Given the description of an element on the screen output the (x, y) to click on. 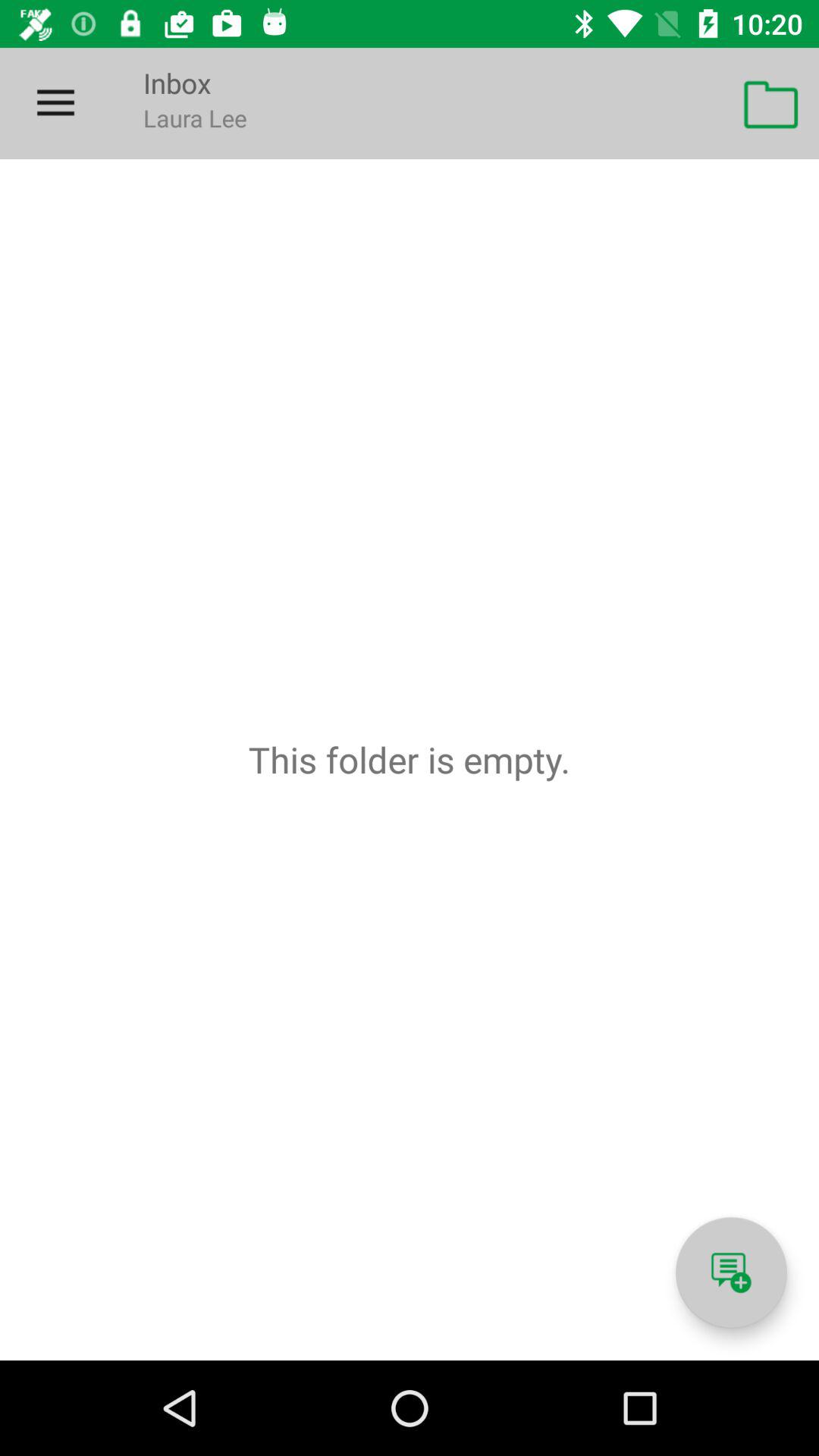
press icon at the top right corner (771, 103)
